Given the description of an element on the screen output the (x, y) to click on. 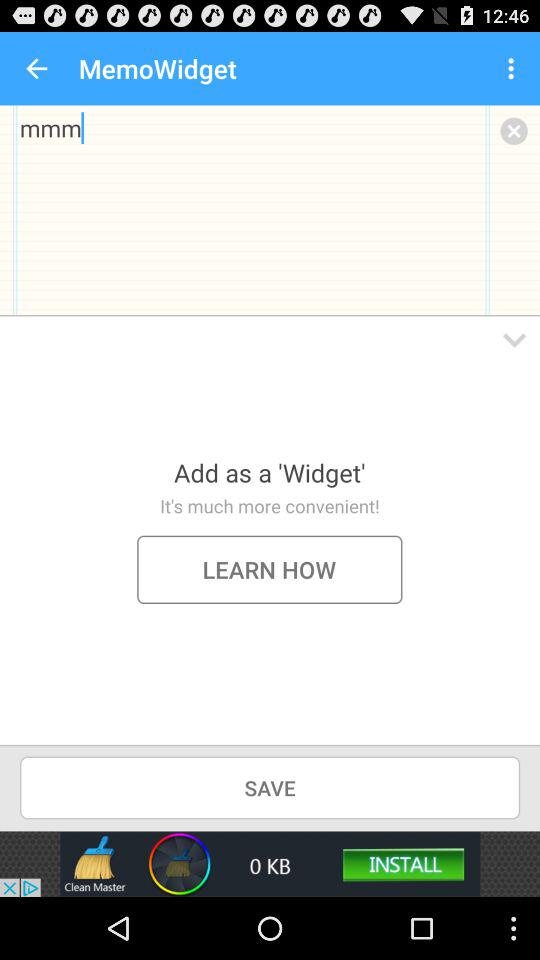
select to down option (514, 340)
